Given the description of an element on the screen output the (x, y) to click on. 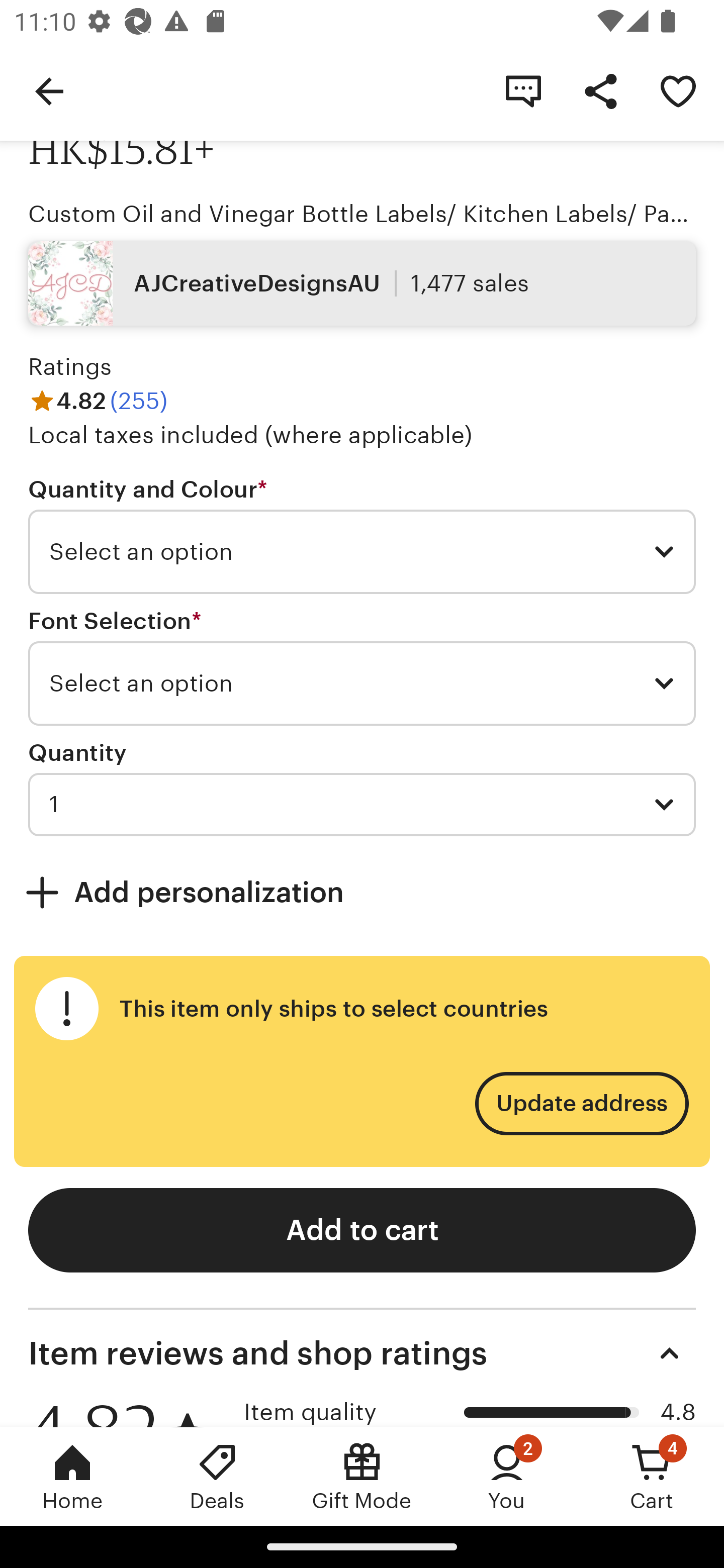
Navigate up (49, 90)
Contact shop (523, 90)
Share (600, 90)
AJCreativeDesignsAU 1,477 sales (361, 283)
Ratings (70, 366)
4.82 (255) (97, 401)
Quantity and Colour * Required Select an option (361, 535)
Select an option (361, 551)
Font Selection * Required Select an option (361, 666)
Select an option (361, 683)
Quantity (77, 752)
1 (361, 804)
Add personalization Add personalization Required (362, 891)
Update address (581, 1103)
Add to cart (361, 1230)
Item reviews and shop ratings (362, 1352)
Deals (216, 1475)
Gift Mode (361, 1475)
You, 2 new notifications You (506, 1475)
Cart, 4 new notifications Cart (651, 1475)
